Given the description of an element on the screen output the (x, y) to click on. 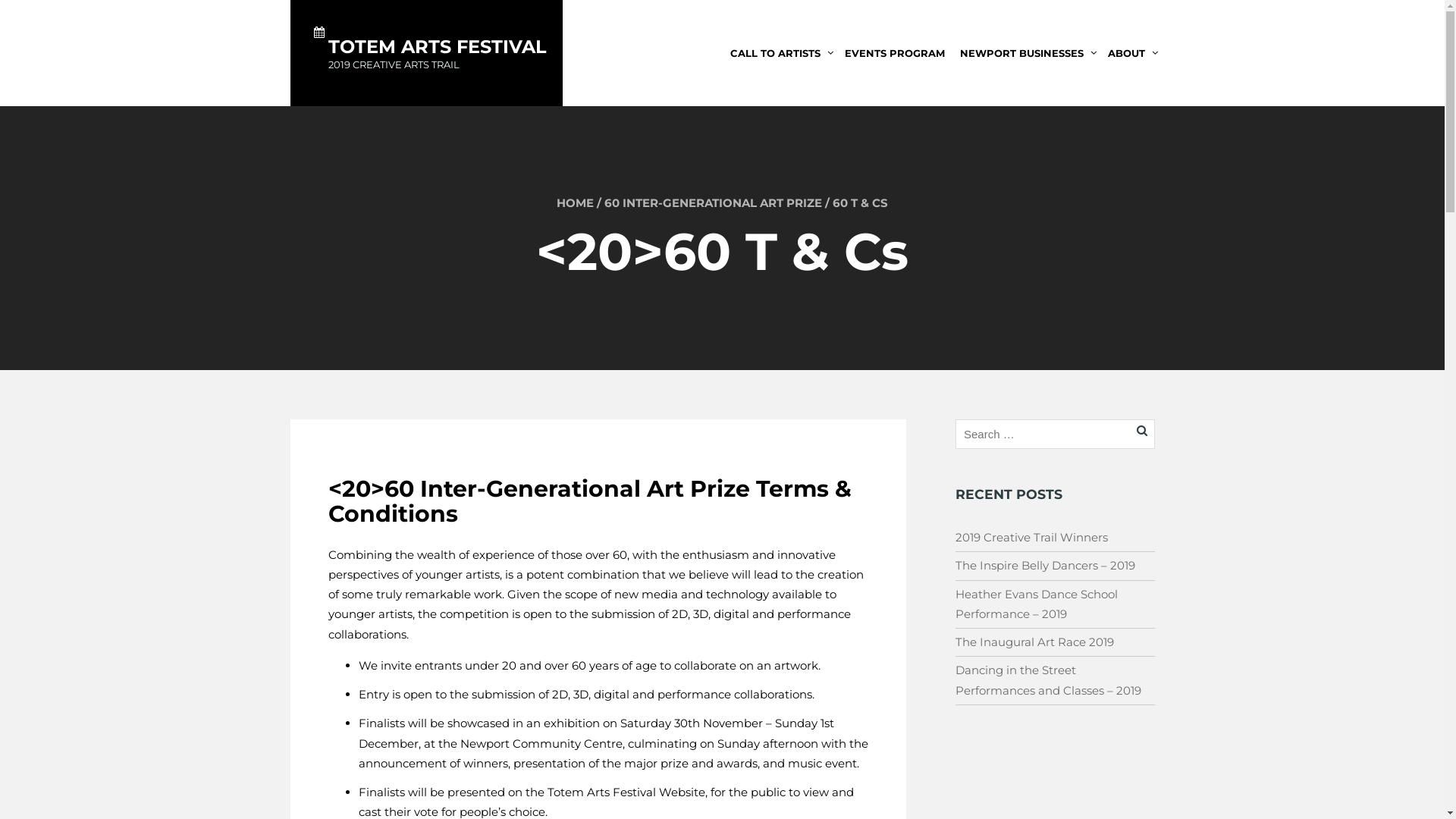
CALL TO ARTISTS Element type: text (779, 52)
NEWPORT BUSINESSES Element type: text (1026, 52)
HOME Element type: text (574, 202)
ABOUT Element type: text (1130, 52)
The Inaugural Art Race 2019 Element type: text (1034, 641)
Search Element type: text (38, 13)
2019 Creative Trail Winners Element type: text (1031, 537)
TOTEM ARTS FESTIVAL
2019 CREATIVE ARTS TRAIL Element type: text (425, 36)
60 INTER-GENERATIONAL ART PRIZE Element type: text (713, 202)
EVENTS PROGRAM Element type: text (894, 52)
